Given the description of an element on the screen output the (x, y) to click on. 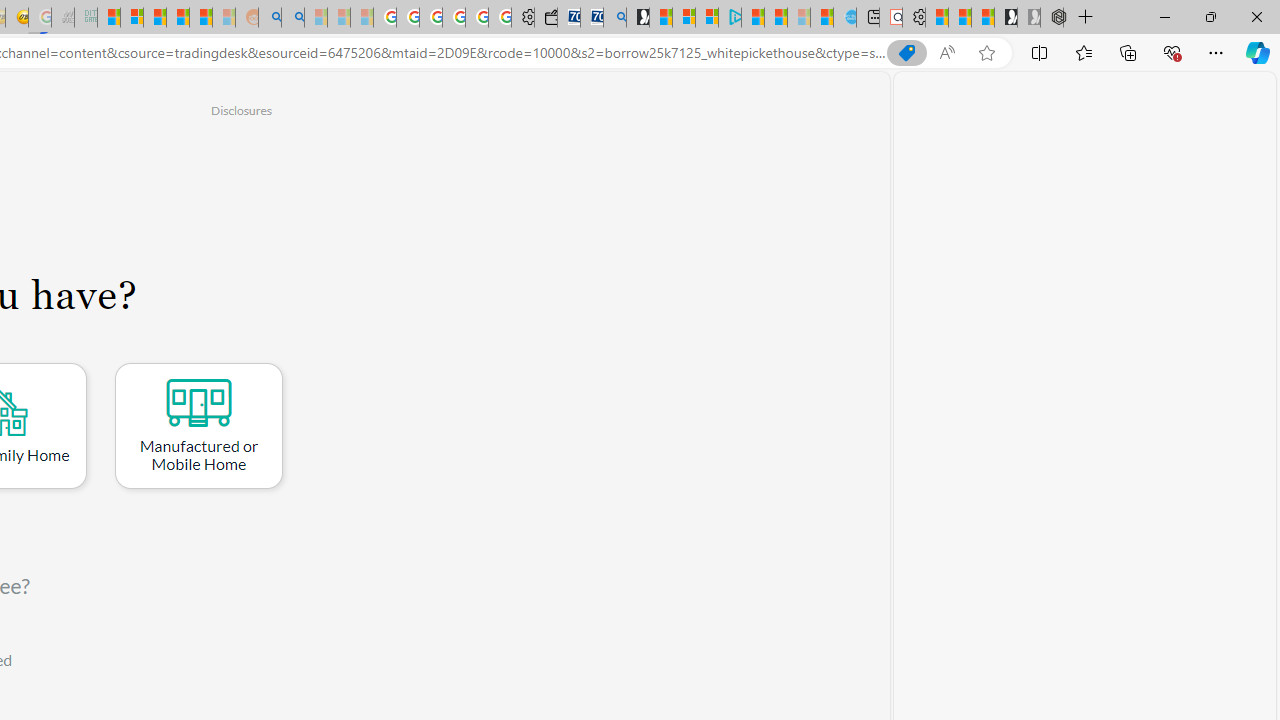
Bing Real Estate - Home sales and rental listings (614, 17)
